Given the description of an element on the screen output the (x, y) to click on. 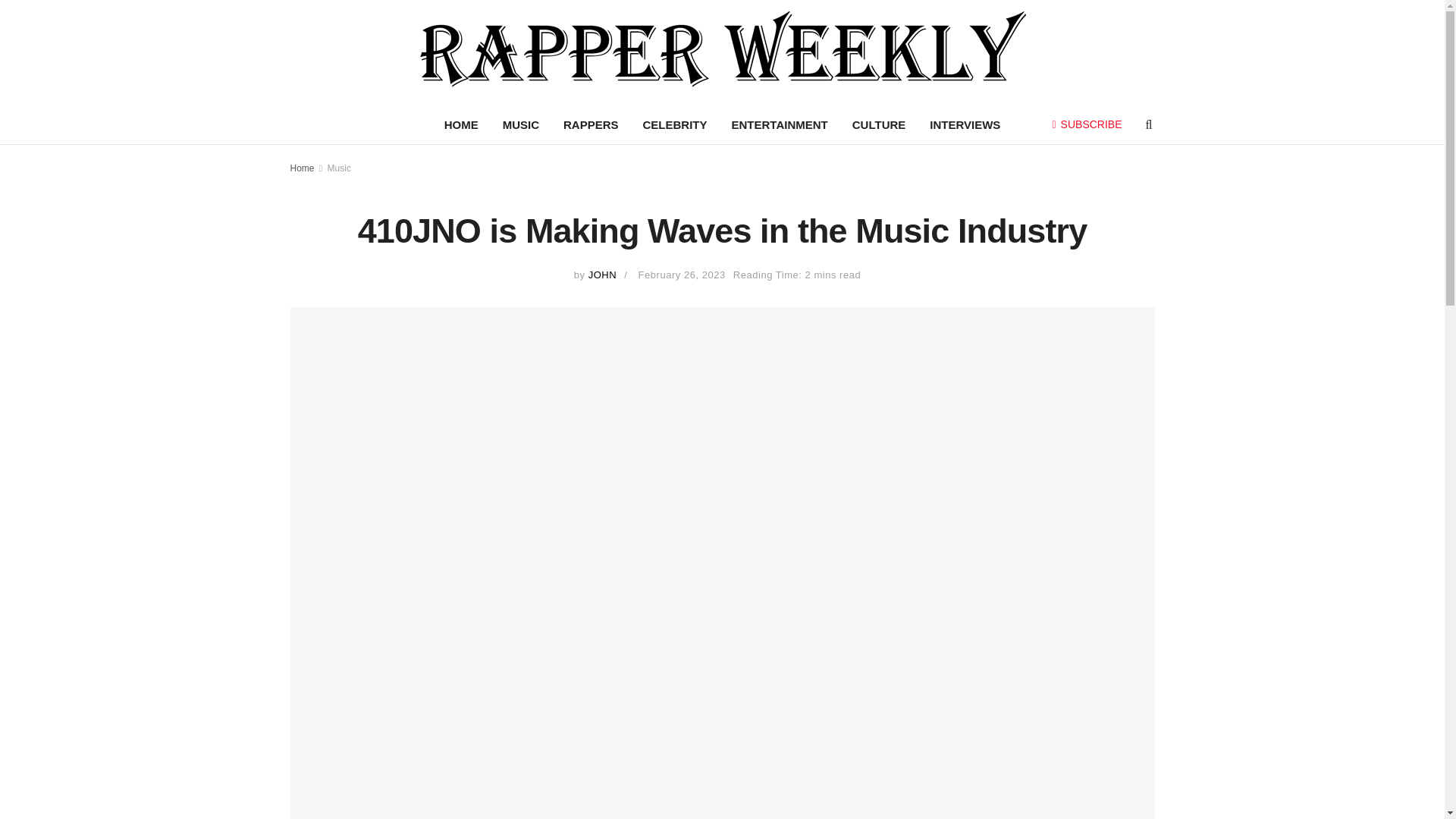
Music (338, 167)
HOME (461, 125)
CELEBRITY (674, 125)
Home (301, 167)
ENTERTAINMENT (779, 125)
CULTURE (879, 125)
JOHN (601, 274)
INTERVIEWS (964, 125)
February 26, 2023 (682, 274)
MUSIC (520, 125)
SUBSCRIBE (1087, 123)
RAPPERS (590, 125)
